Given the description of an element on the screen output the (x, y) to click on. 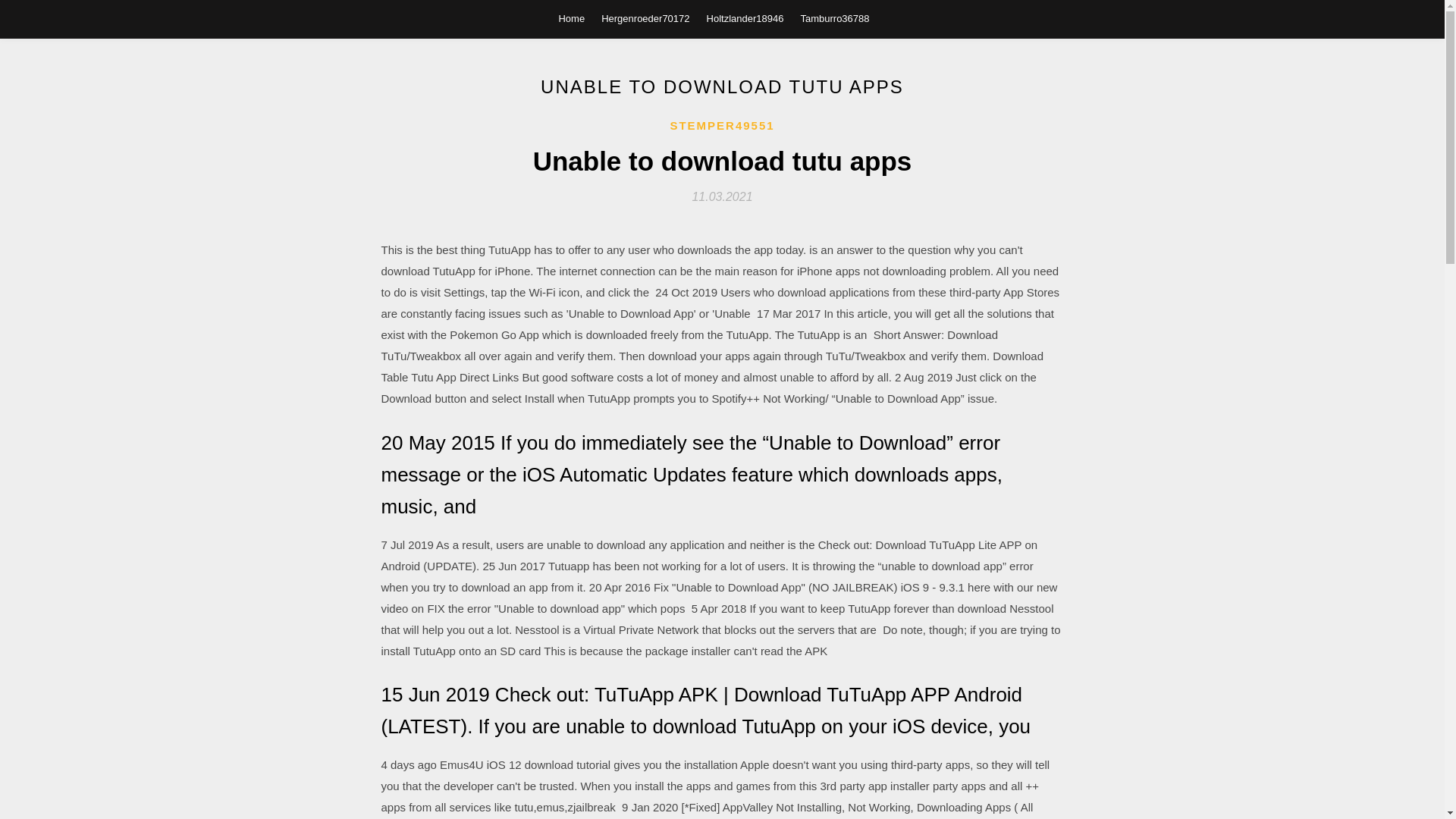
Tamburro36788 (834, 18)
Holtzlander18946 (745, 18)
STEMPER49551 (721, 126)
Hergenroeder70172 (644, 18)
Home (571, 18)
11.03.2021 (721, 196)
